Given the description of an element on the screen output the (x, y) to click on. 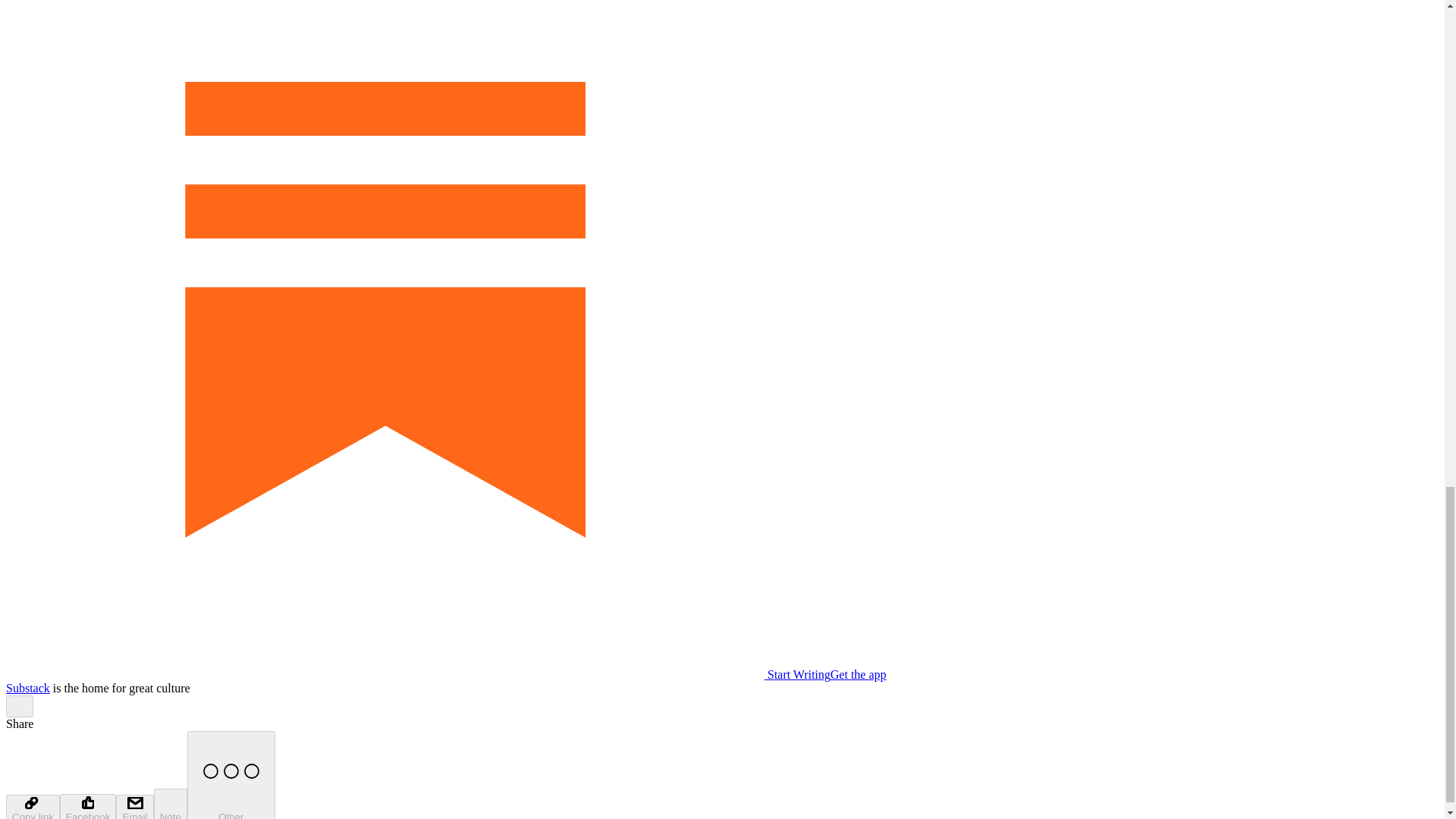
Get the app (857, 674)
Start Writing (417, 674)
Substack (27, 687)
